Given the description of an element on the screen output the (x, y) to click on. 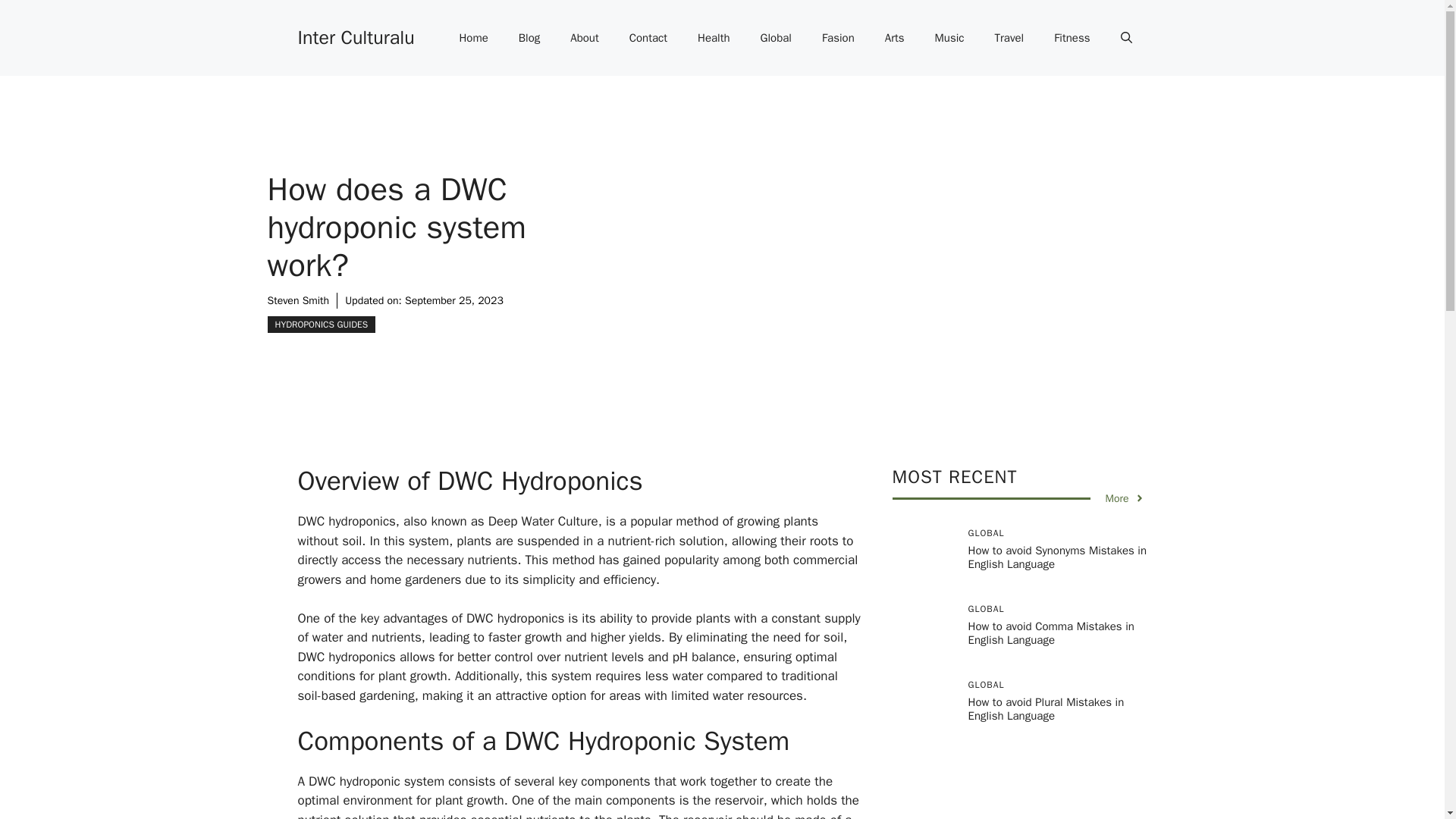
HYDROPONICS GUIDES (320, 324)
Arts (894, 37)
Fasion (837, 37)
Fitness (1072, 37)
How to avoid Synonyms Mistakes in English Language (1057, 556)
How to avoid Comma Mistakes in English Language (1051, 633)
How to avoid Plural Mistakes in English Language (1046, 708)
Steven Smith (297, 300)
Global (775, 37)
More (1124, 498)
About (583, 37)
Health (713, 37)
Contact (648, 37)
Home (473, 37)
Inter Culturalu (355, 37)
